Given the description of an element on the screen output the (x, y) to click on. 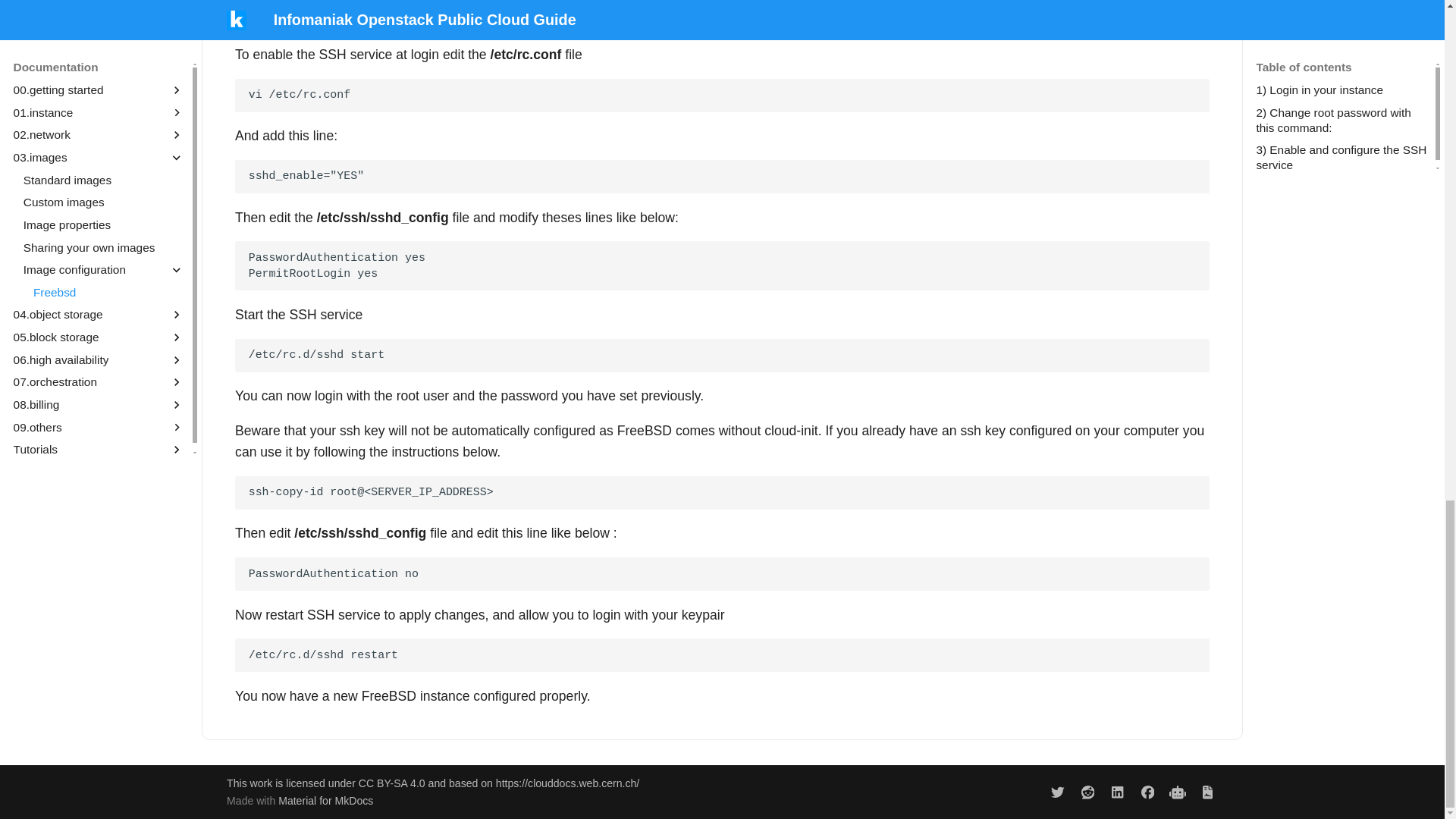
www.infomaniak.com (1177, 791)
www.reddit.com (1087, 791)
twitter.com (1056, 791)
www.infomaniak.com (1207, 791)
www.facebook.com (1147, 791)
www.linkedin.com (1117, 791)
